Given the description of an element on the screen output the (x, y) to click on. 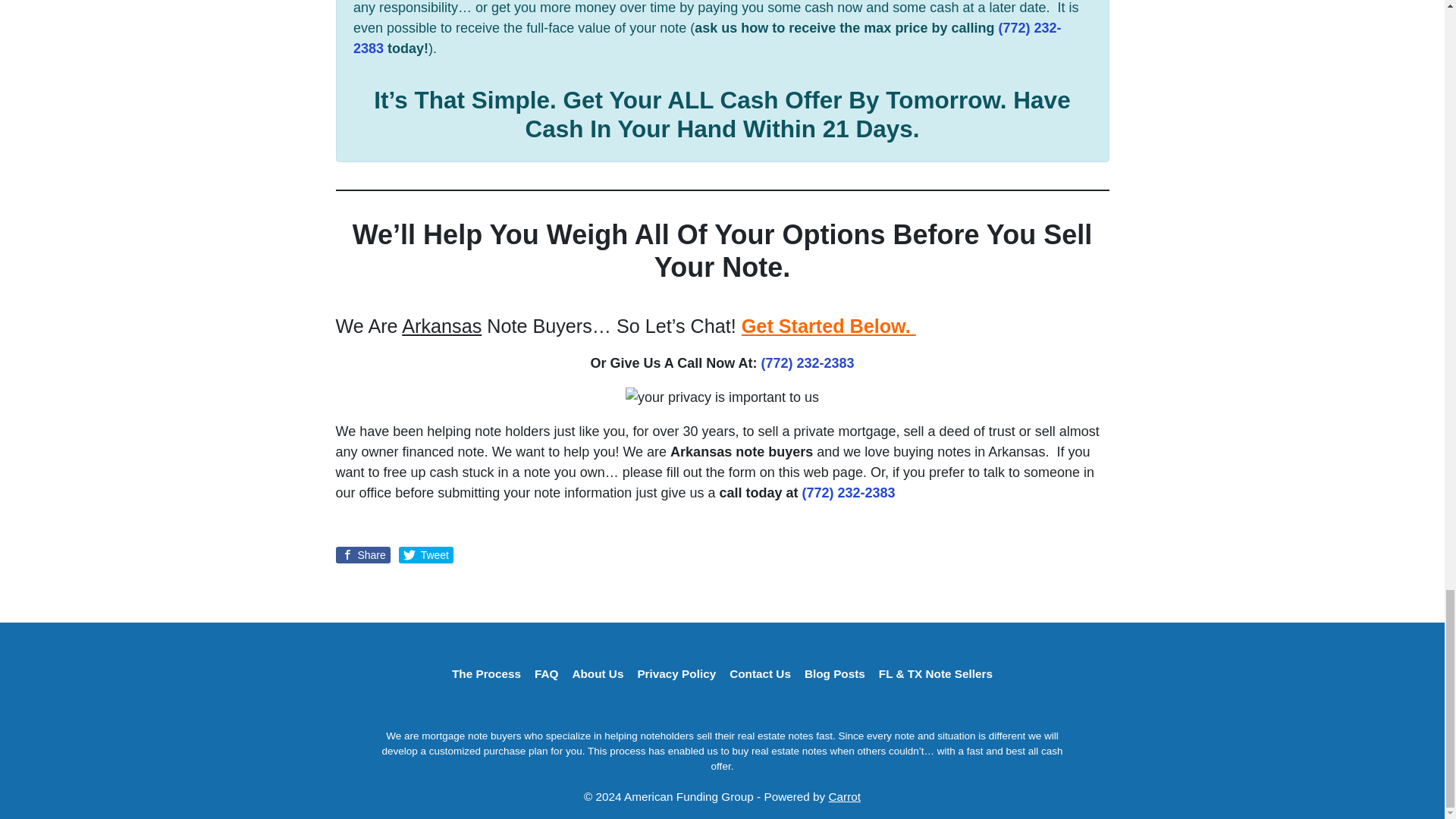
Share on Facebook (362, 555)
The Process (486, 674)
FAQ (545, 674)
LinkedIn (721, 707)
Share (362, 555)
About Us (597, 674)
Tweet (425, 555)
Carrot (844, 796)
Contact Us (759, 674)
Privacy Policy (676, 674)
Blog Posts (834, 674)
Share on Twitter (425, 555)
